Given the description of an element on the screen output the (x, y) to click on. 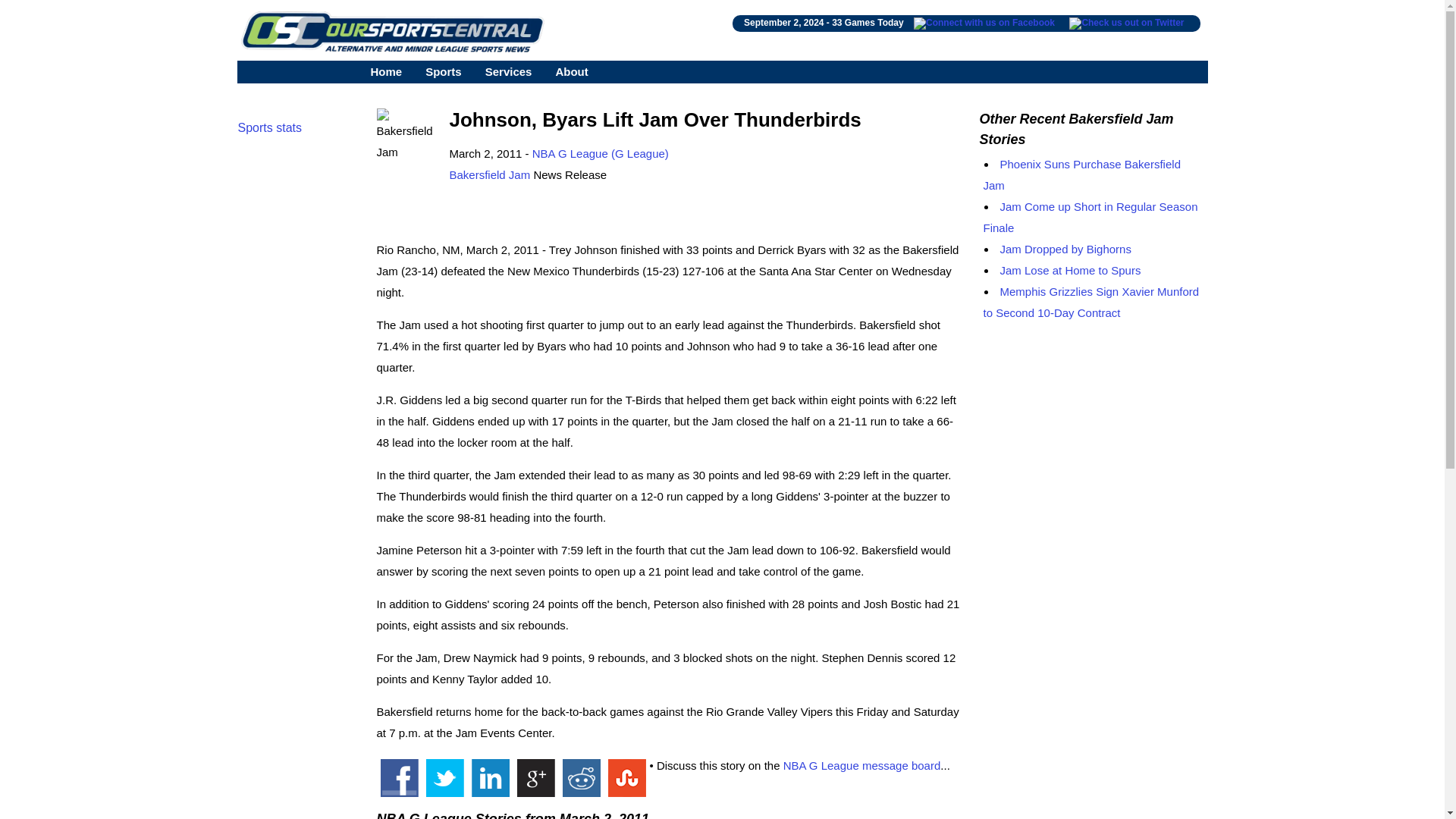
33 Games Today (867, 22)
Sports stats (269, 127)
Home (385, 71)
Bakersfield Jam (488, 174)
